Given the description of an element on the screen output the (x, y) to click on. 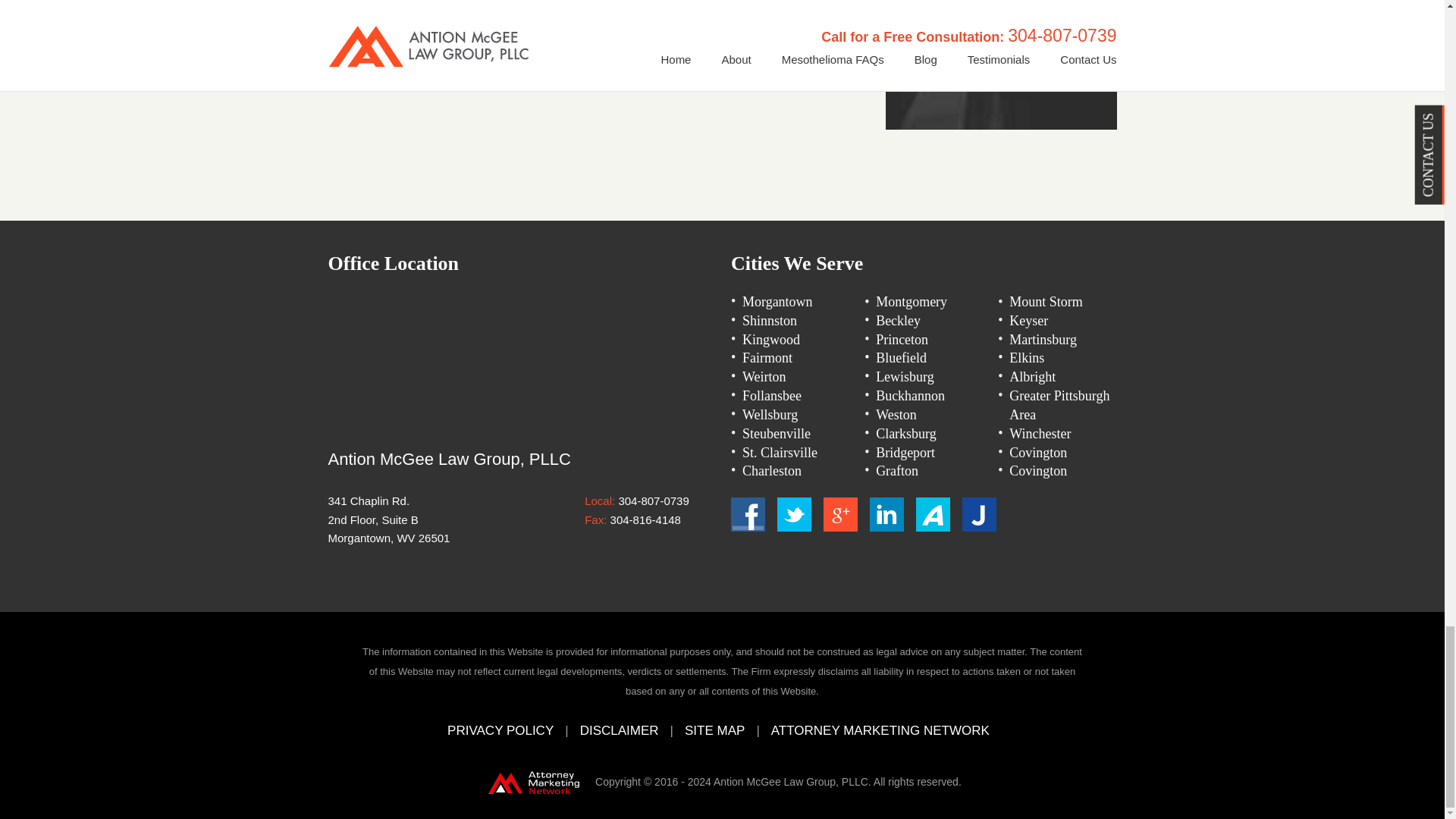
Wellsburg (769, 414)
Steubenville (776, 433)
Kingwood (770, 339)
304-816-4148 (645, 519)
Fairmont (767, 357)
Shinnston (769, 320)
Weirton (764, 376)
Follansbee (772, 395)
304-807-0739 (652, 500)
Morgantown (777, 301)
